Given the description of an element on the screen output the (x, y) to click on. 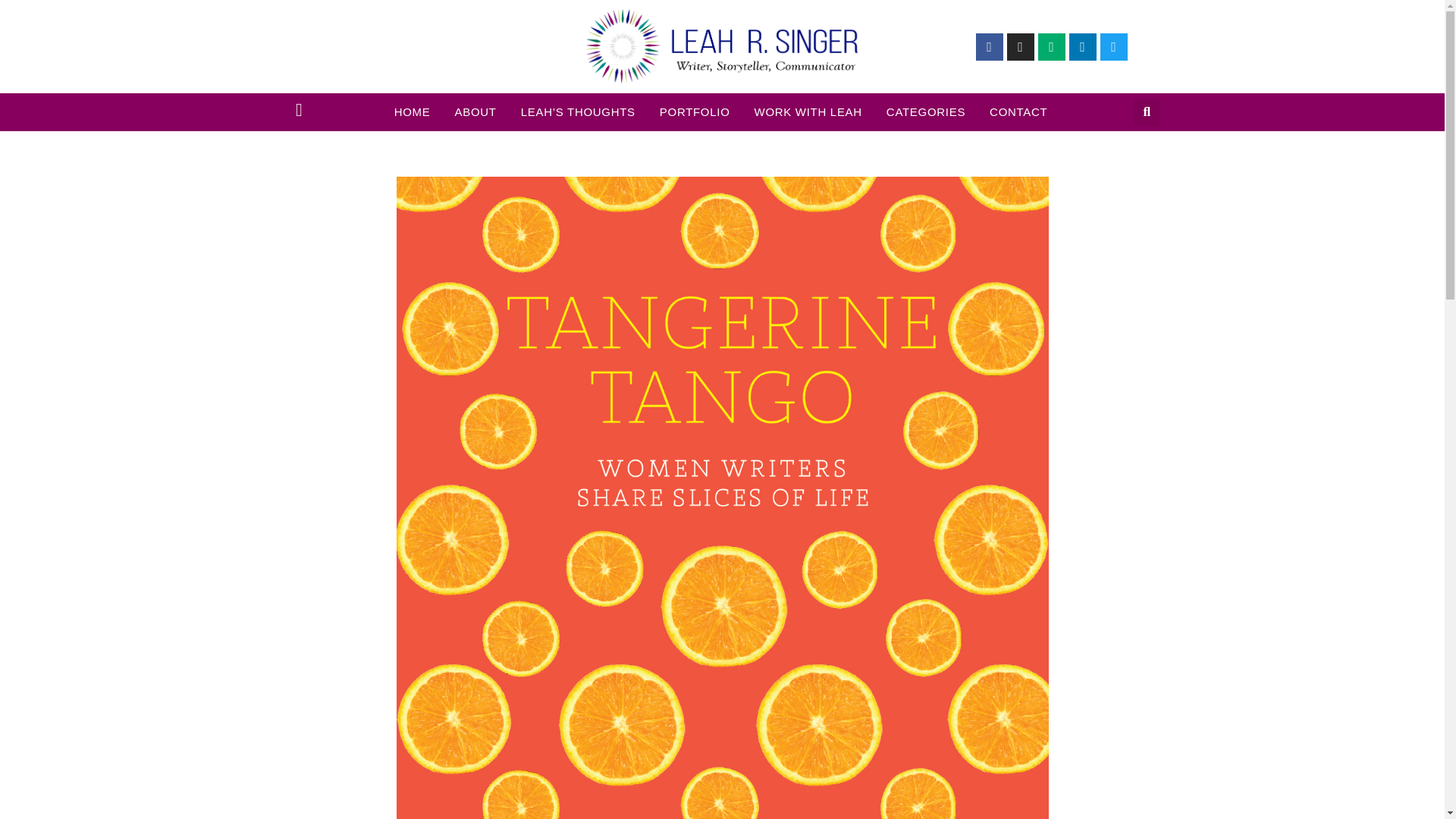
CONTACT (1018, 112)
WORK WITH LEAH (807, 112)
CATEGORIES (925, 112)
PORTFOLIO (694, 112)
HOME (412, 112)
ABOUT (475, 112)
